Given the description of an element on the screen output the (x, y) to click on. 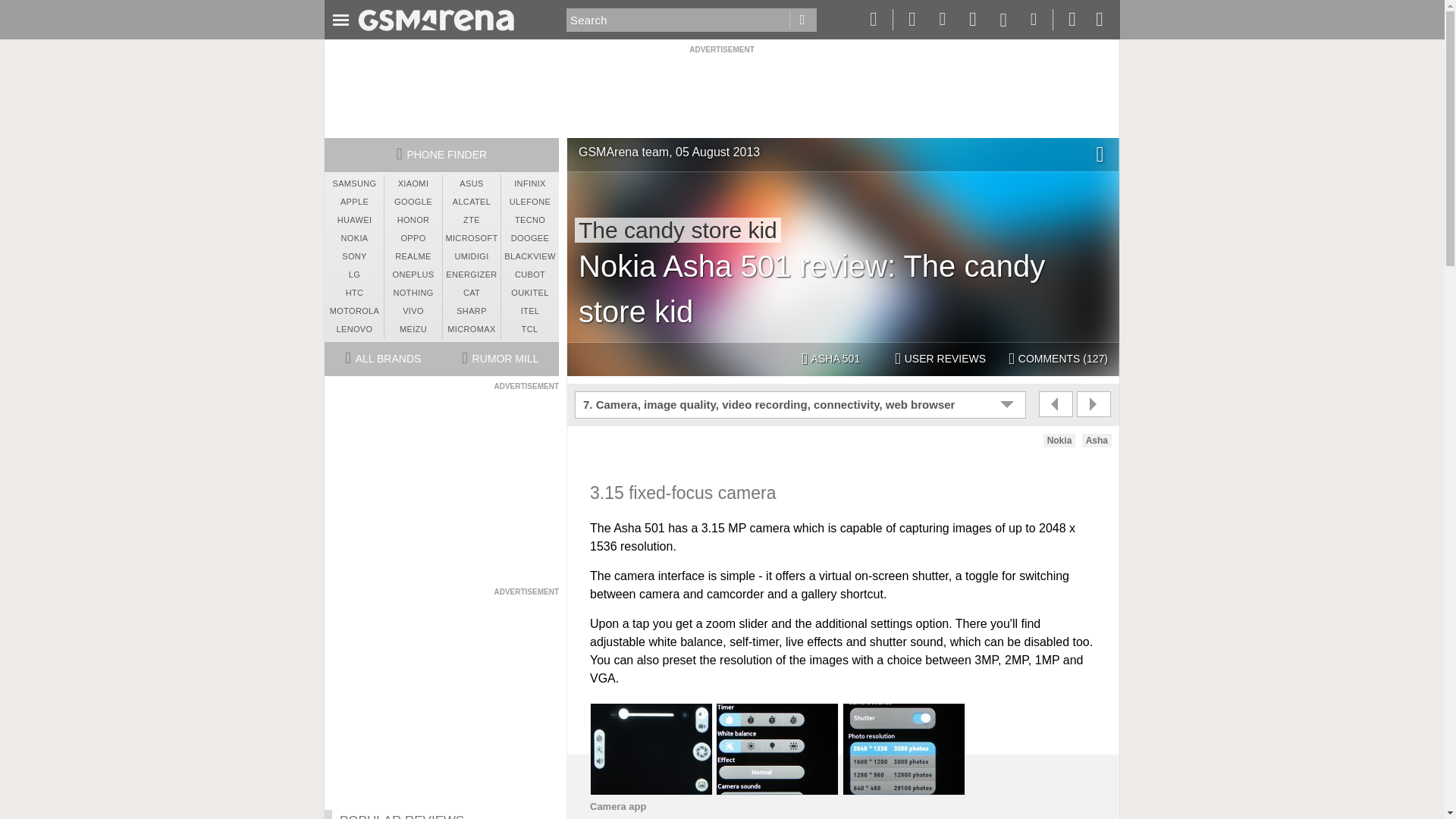
ASHA 501 (830, 359)
Go (802, 19)
Next page (1093, 403)
Go (802, 19)
Previous page (1056, 403)
USER REVIEWS (940, 359)
